Given the description of an element on the screen output the (x, y) to click on. 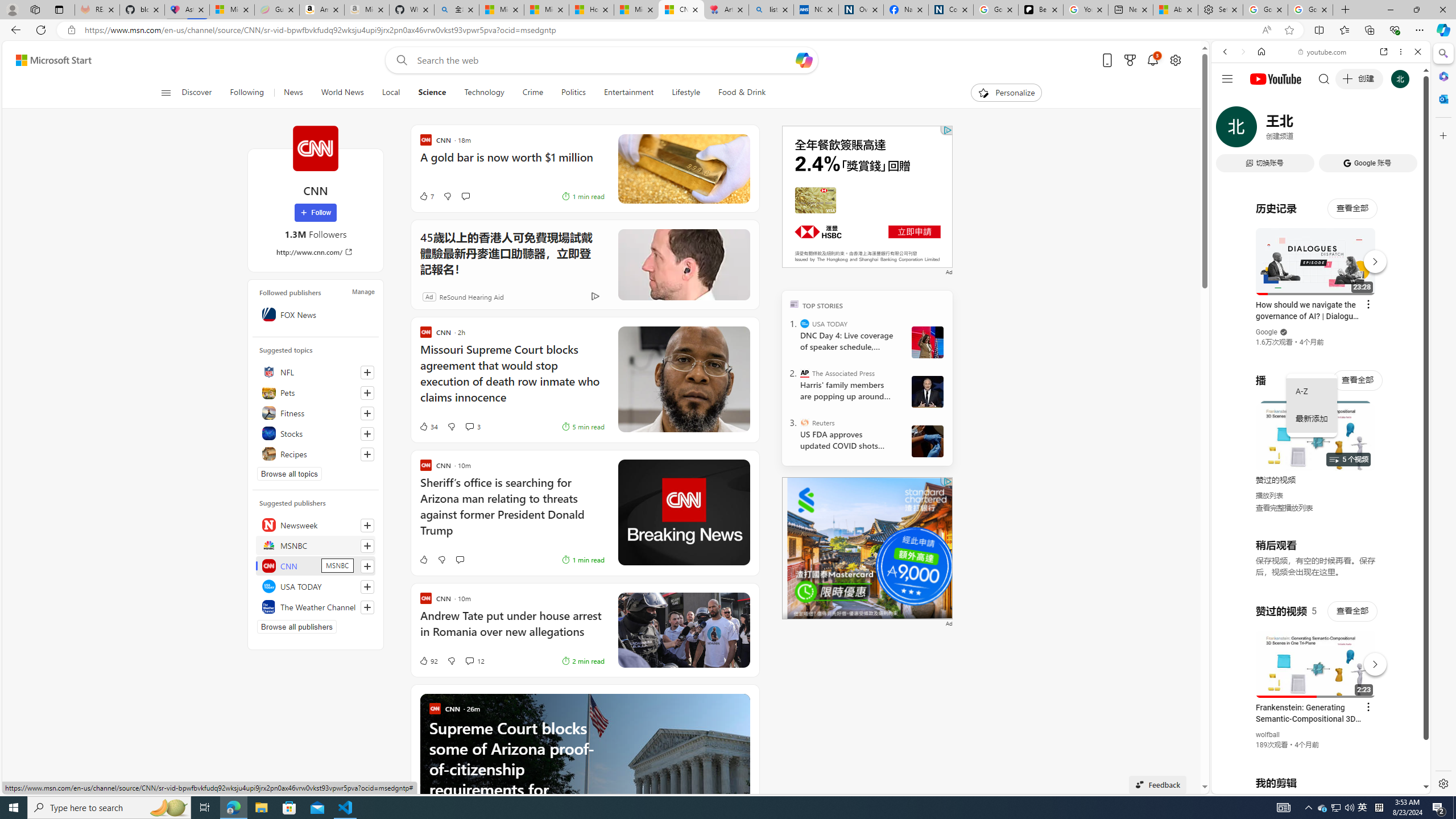
US[ju] (1249, 785)
Follow (315, 212)
Pets (315, 392)
WEB   (1230, 130)
Click to scroll right (1407, 456)
Reuters (804, 422)
